Given the description of an element on the screen output the (x, y) to click on. 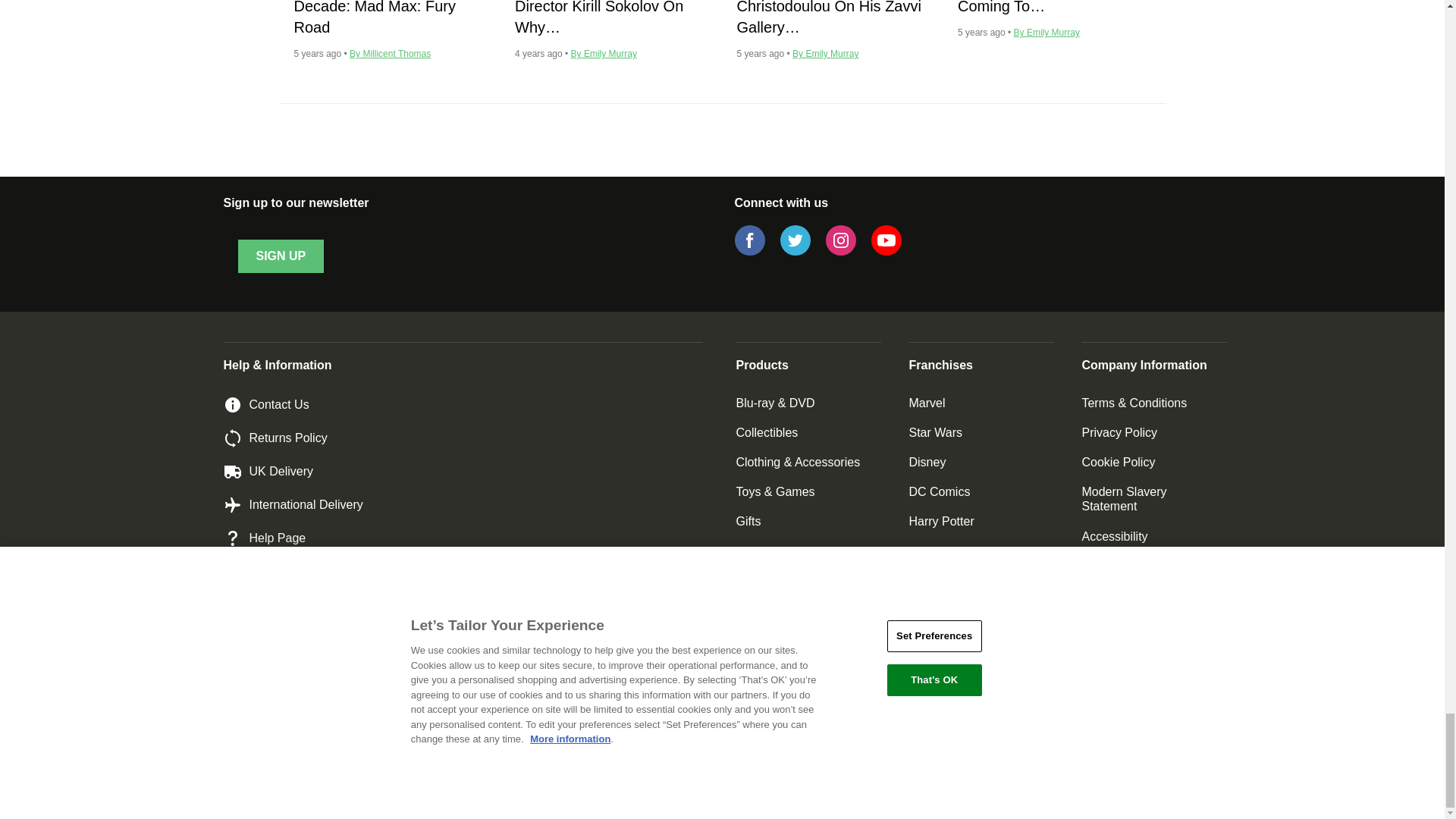
Visa Electron (755, 735)
Visa (806, 735)
Mastercard (854, 735)
